Given the description of an element on the screen output the (x, y) to click on. 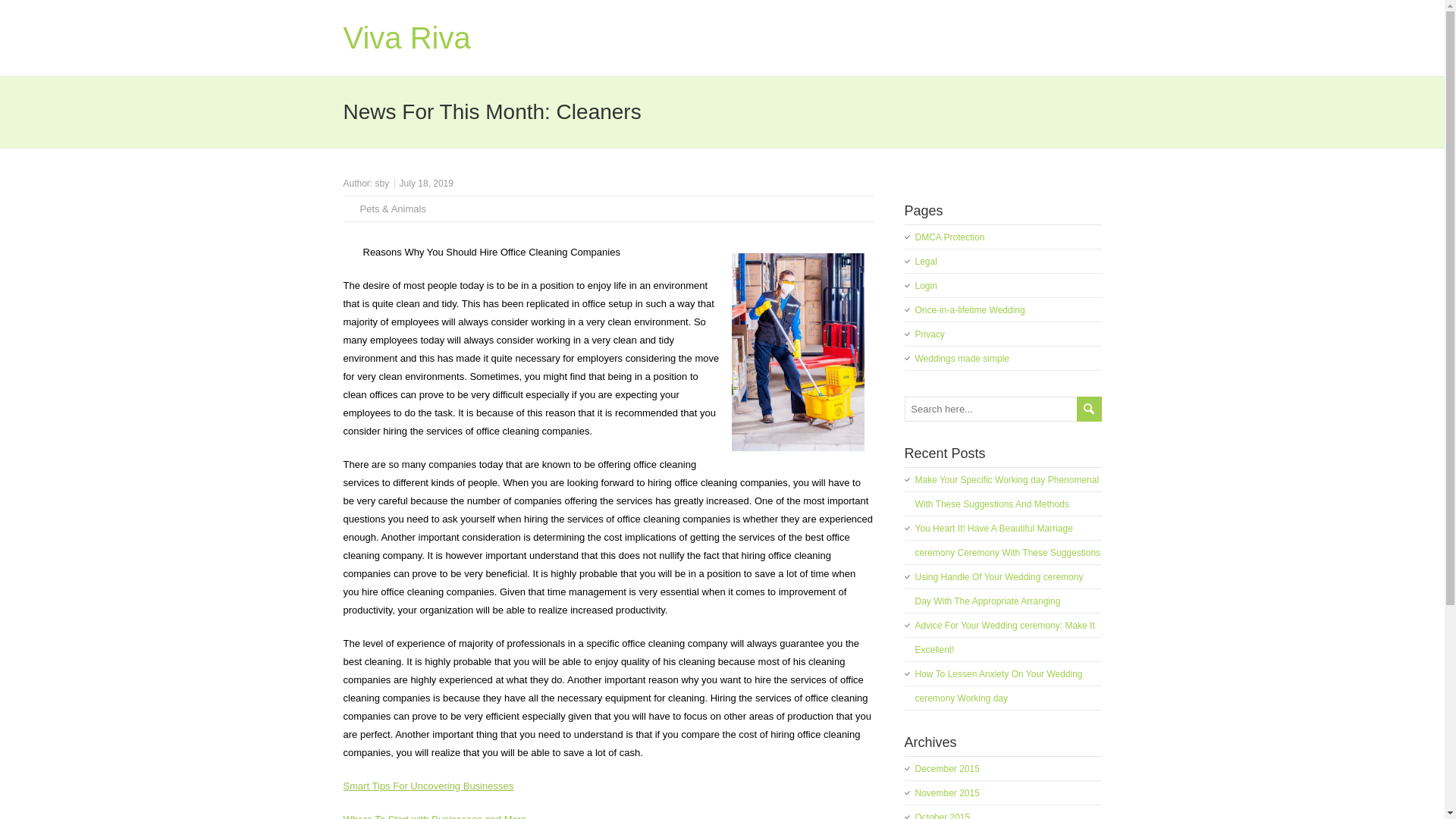
Weddings made simple (961, 357)
Smart Tips For Uncovering Businesses (427, 785)
Once-in-a-lifetime Wedding (969, 309)
December 2015 (946, 768)
How To Lessen Anxiety On Your Wedding ceremony Working day (997, 686)
Advice For Your Wedding ceremony: Make It Excellent! (1004, 637)
DMCA Protection (949, 236)
sby (382, 183)
Privacy (928, 334)
